Given the description of an element on the screen output the (x, y) to click on. 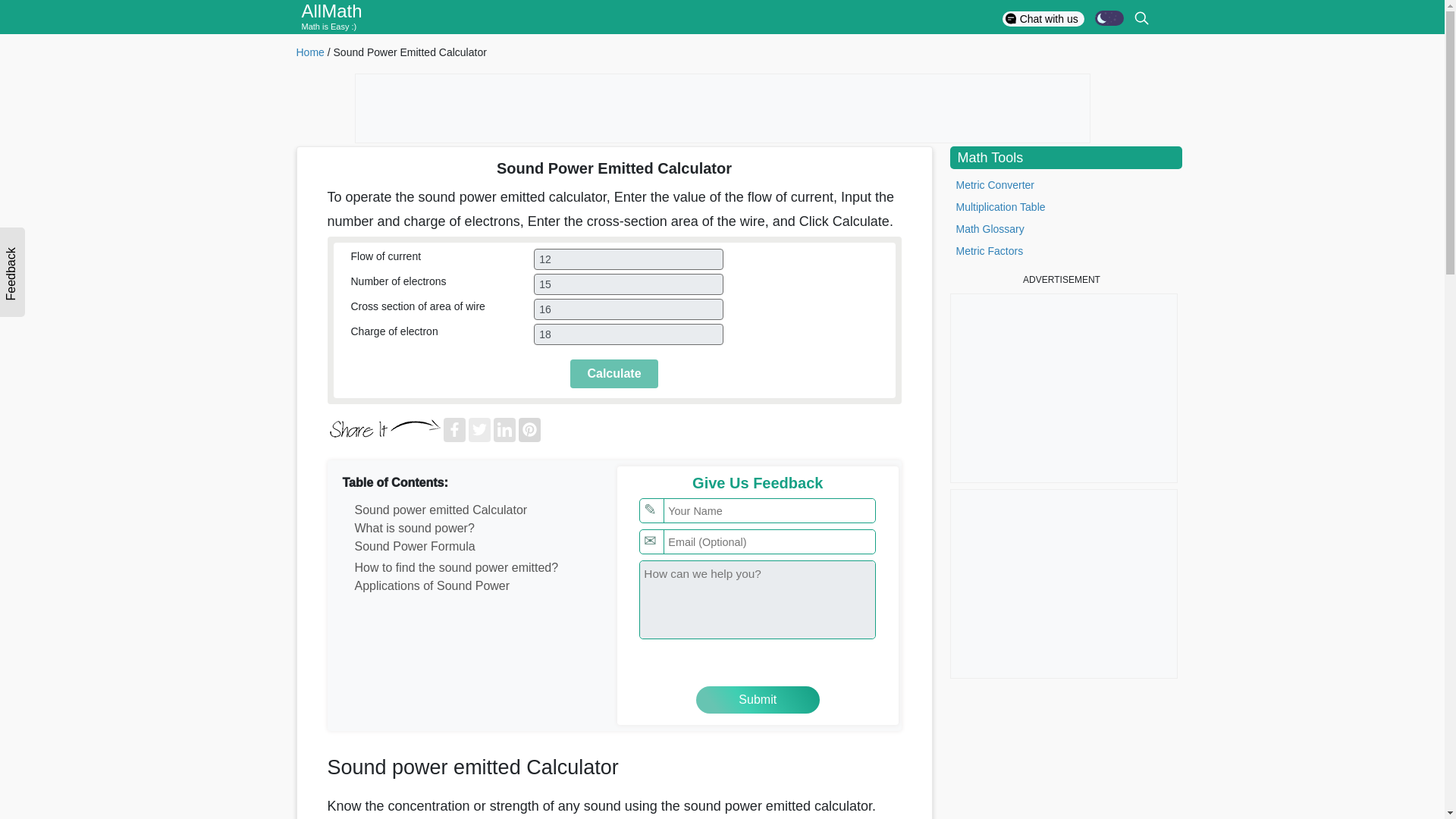
15 (628, 283)
Metric Factors (989, 250)
Feedback  (12, 288)
How to find the sound power emitted? (470, 567)
Chat with us (1043, 17)
Math Glossary (989, 228)
12 (628, 259)
What is sound power? (470, 528)
Metric Converter (994, 184)
Home (309, 51)
